Given the description of an element on the screen output the (x, y) to click on. 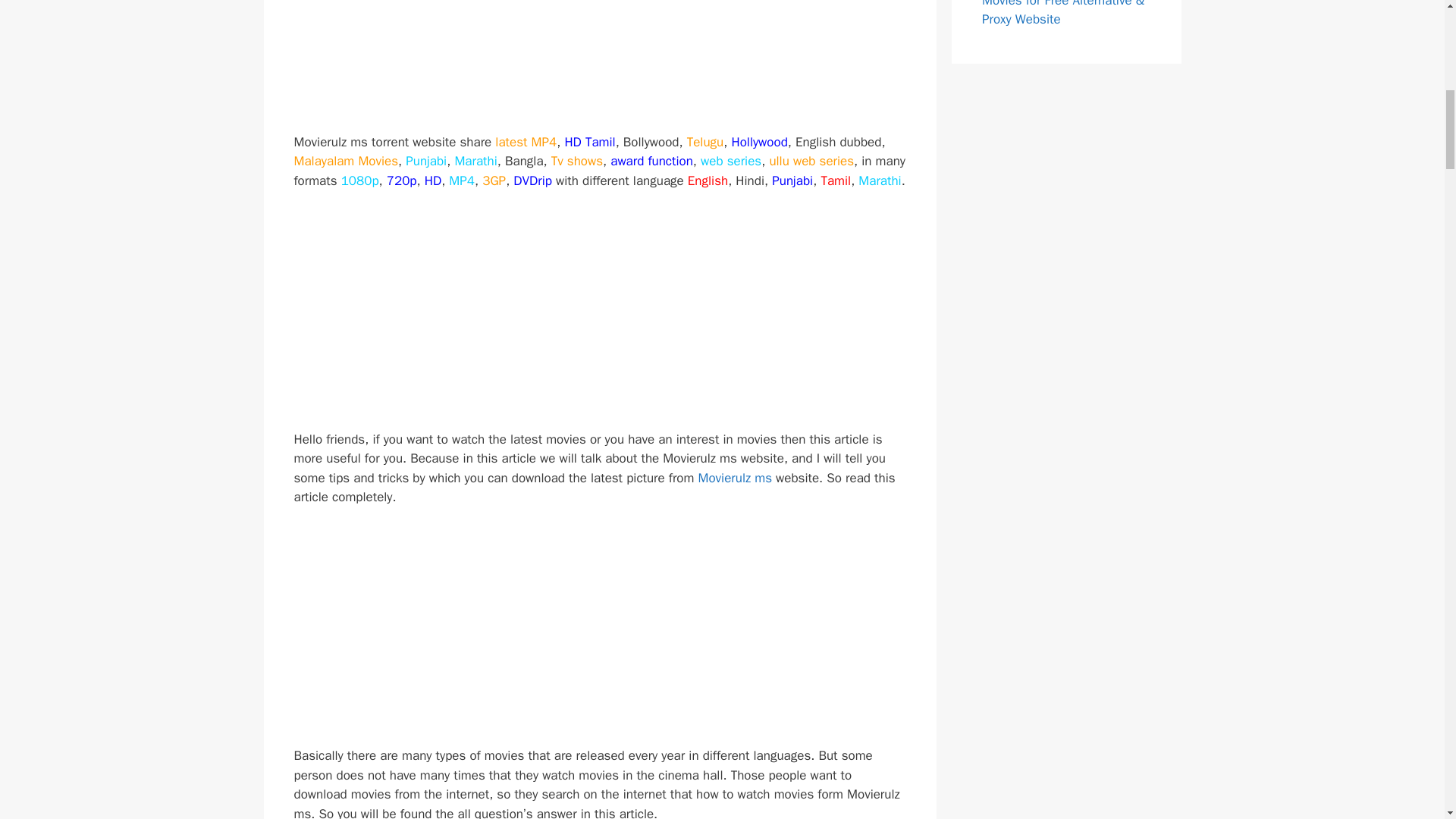
Advertisement (600, 62)
Advertisement (600, 632)
Advertisement (600, 315)
Movierulz ms (734, 478)
